Given the description of an element on the screen output the (x, y) to click on. 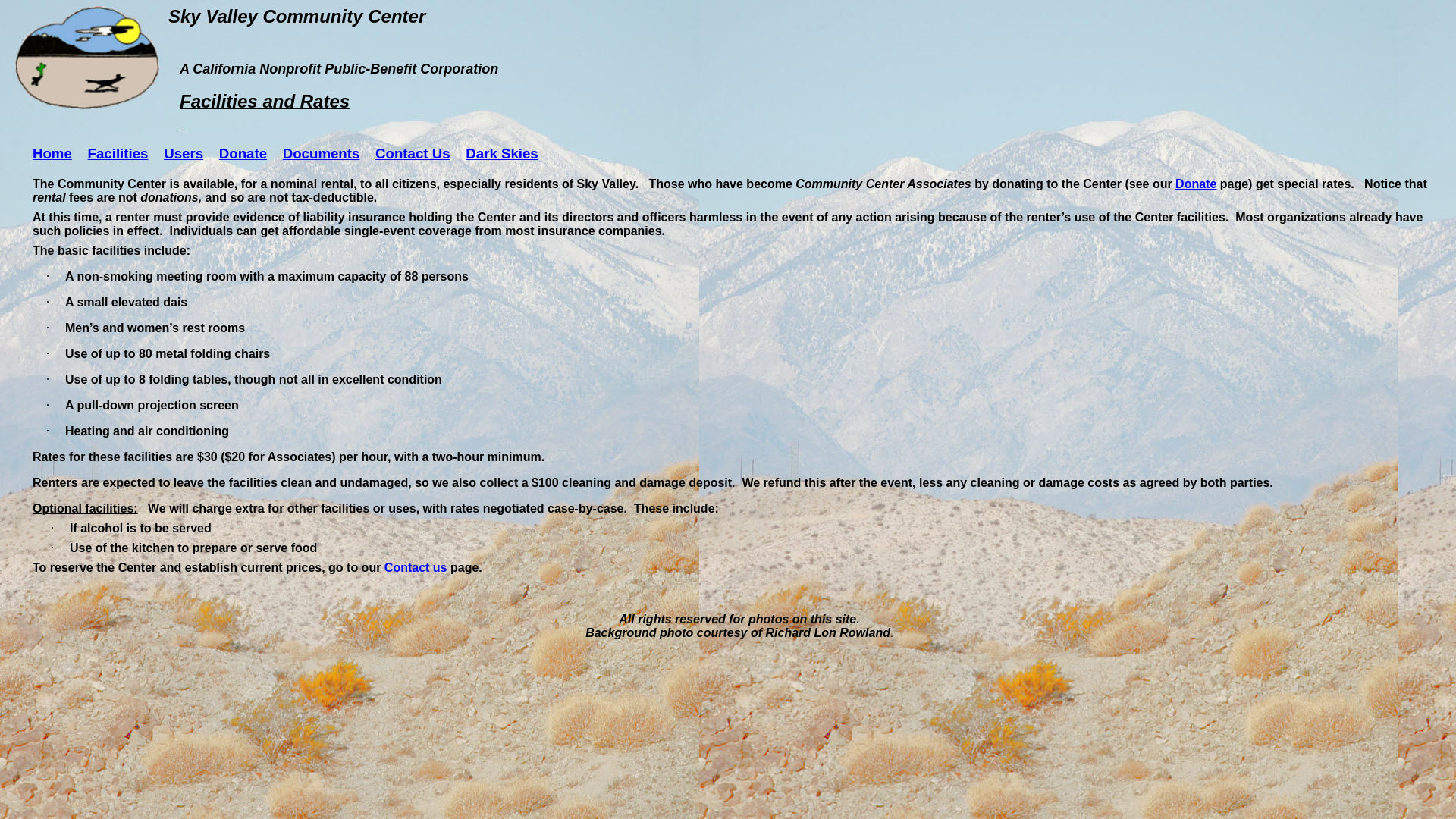
Donate Element type: text (1195, 183)
Contact us Element type: text (415, 567)
Facilities Element type: text (117, 153)
Documents Element type: text (321, 153)
Users Element type: text (183, 153)
Contact Us Element type: text (412, 153)
Dark Skies Element type: text (501, 153)
Donate Element type: text (242, 153)
Home Element type: text (52, 153)
